Given the description of an element on the screen output the (x, y) to click on. 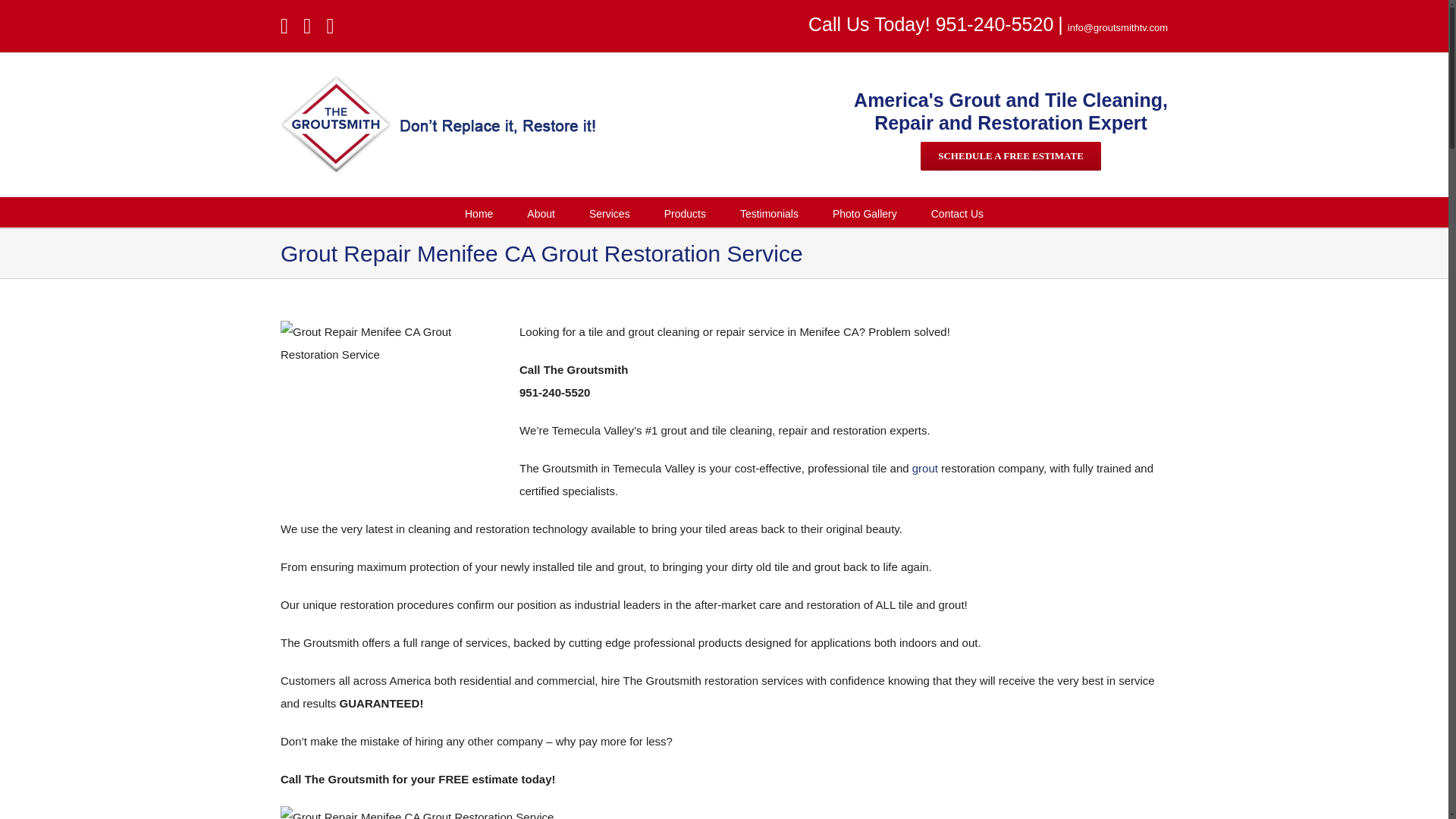
SCHEDULE A FREE ESTIMATE (1010, 154)
Grout Repair Menifee CA Grout Restoration Service (417, 812)
Testimonials (768, 212)
About (540, 212)
Contact Us (957, 212)
Photo Gallery (864, 212)
Products (684, 212)
Services (609, 212)
Grout Repair Menifee CA Grout Restoration Service (394, 415)
Home (478, 212)
